Given the description of an element on the screen output the (x, y) to click on. 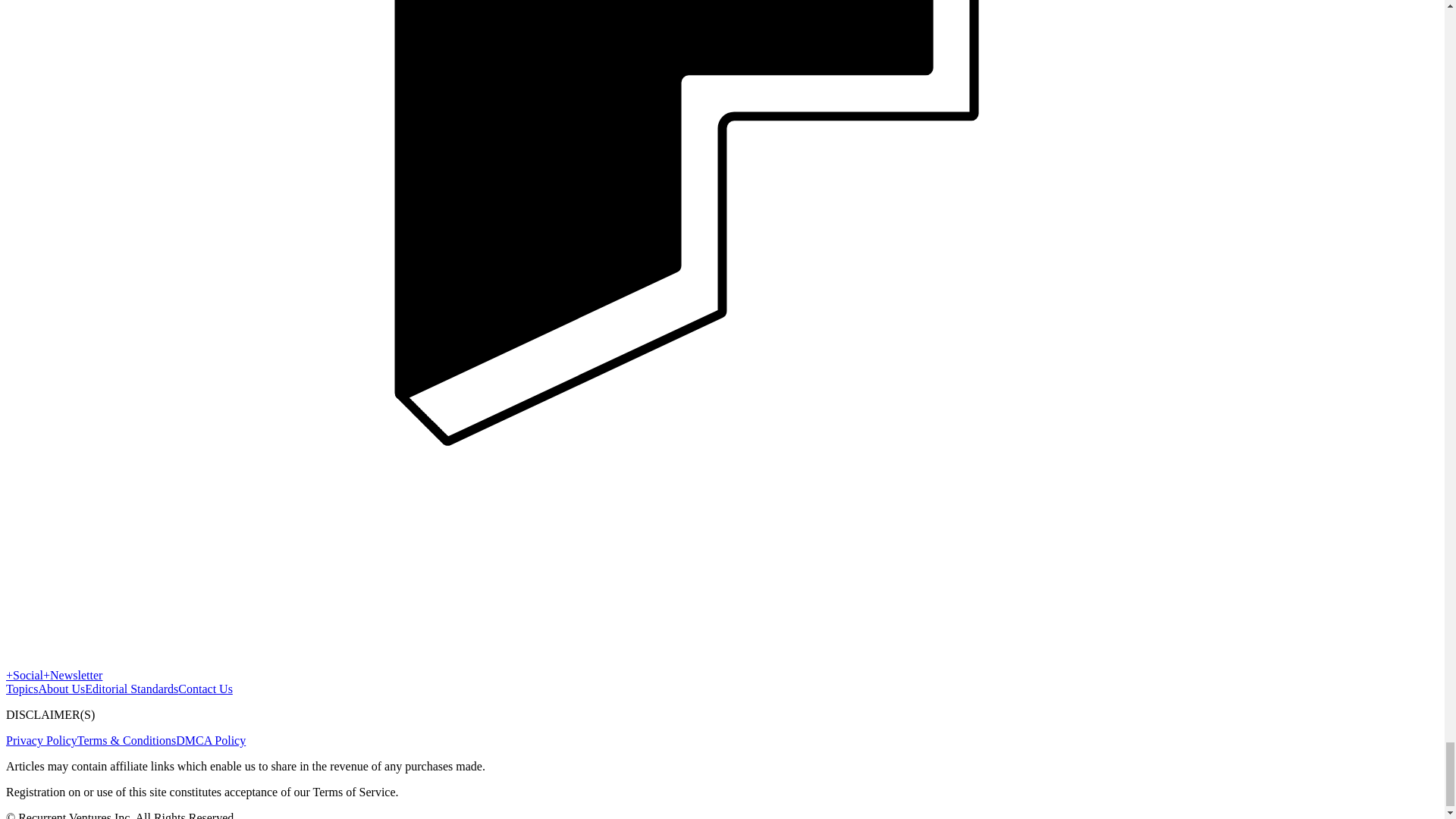
Editorial Standards (130, 688)
Privacy Policy (41, 739)
Topics (21, 688)
DMCA Policy (211, 739)
Contact Us (204, 688)
About Us (60, 688)
